Given the description of an element on the screen output the (x, y) to click on. 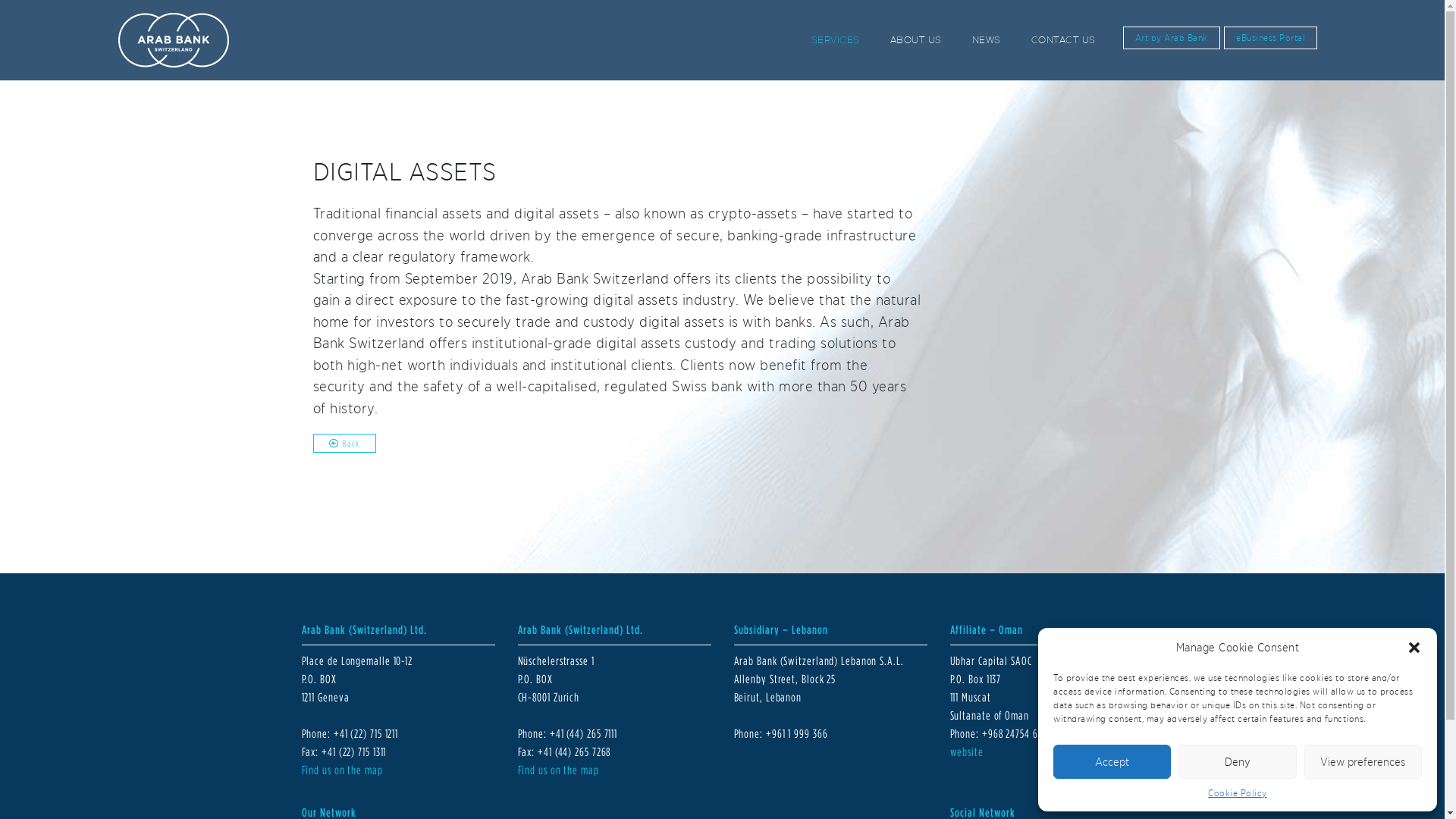
Find us on the map Element type: text (341, 769)
ABOUT US Element type: text (916, 39)
NEWS Element type: text (986, 39)
Accept Element type: text (1111, 761)
CONTACT US Element type: text (1063, 39)
eBusiness Portal Element type: text (1270, 37)
View preferences Element type: text (1362, 761)
SERVICES Element type: text (835, 39)
Deny Element type: text (1236, 761)
Find us on the map Element type: text (557, 769)
Art by Arab Bank Element type: text (1171, 37)
Cookie Policy Element type: text (1237, 793)
website Element type: text (965, 751)
Back Element type: text (343, 442)
